Given the description of an element on the screen output the (x, y) to click on. 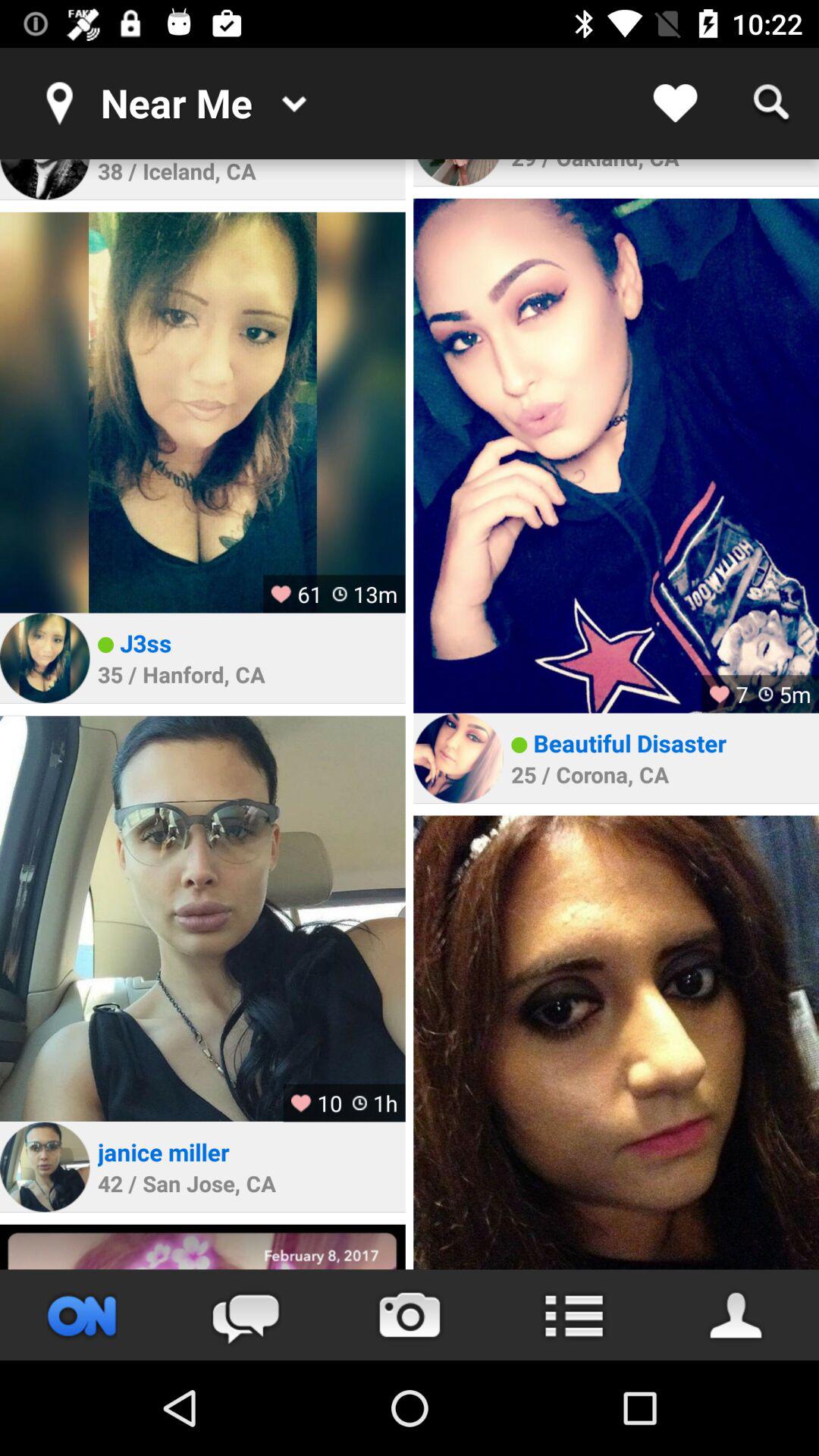
profile picture (202, 412)
